Given the description of an element on the screen output the (x, y) to click on. 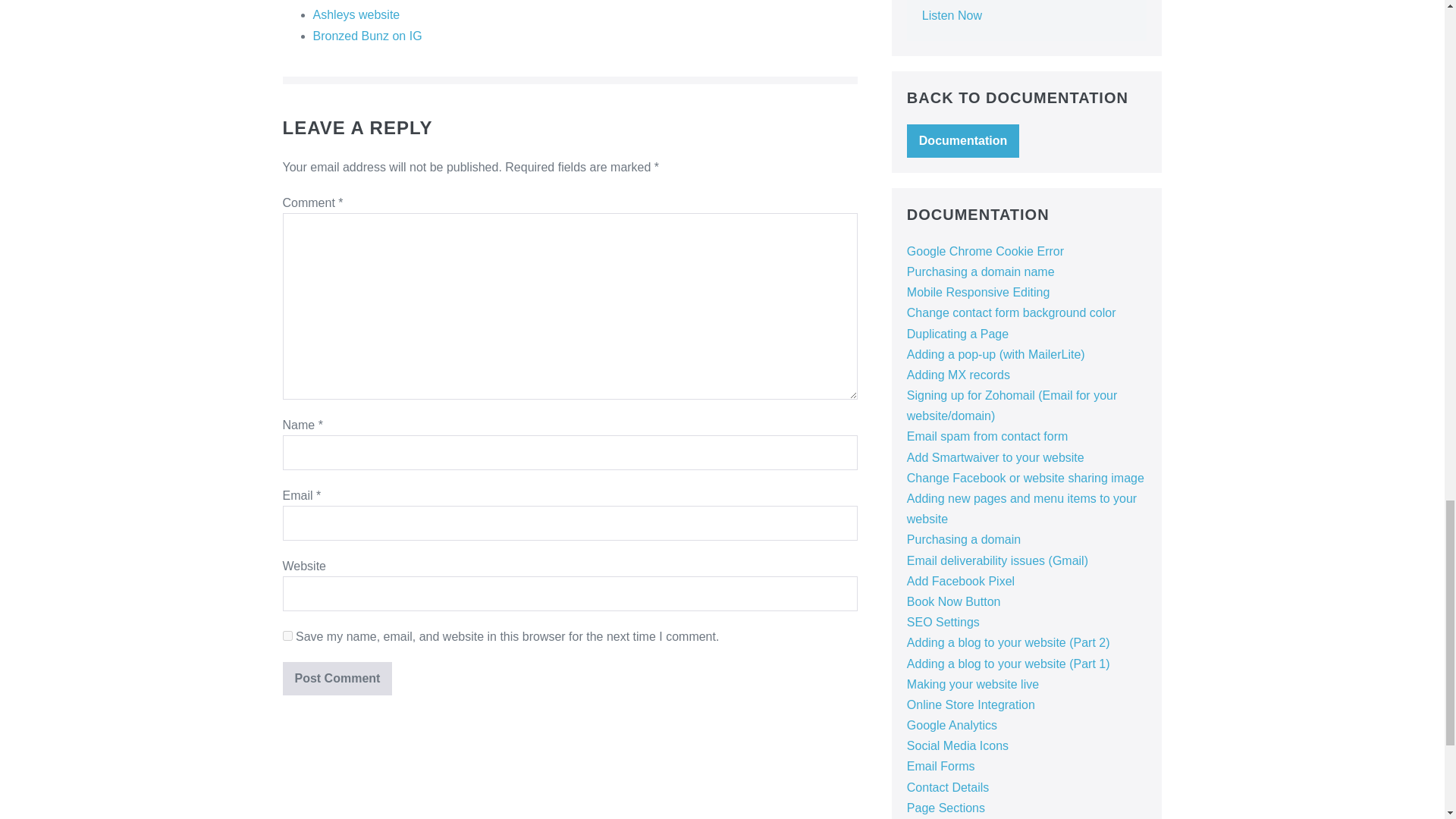
Ashleys website (355, 14)
yes (287, 635)
Post Comment (336, 678)
Bronzed Bunz on IG (367, 35)
Listen Now (951, 15)
Post Comment (336, 678)
